Given the description of an element on the screen output the (x, y) to click on. 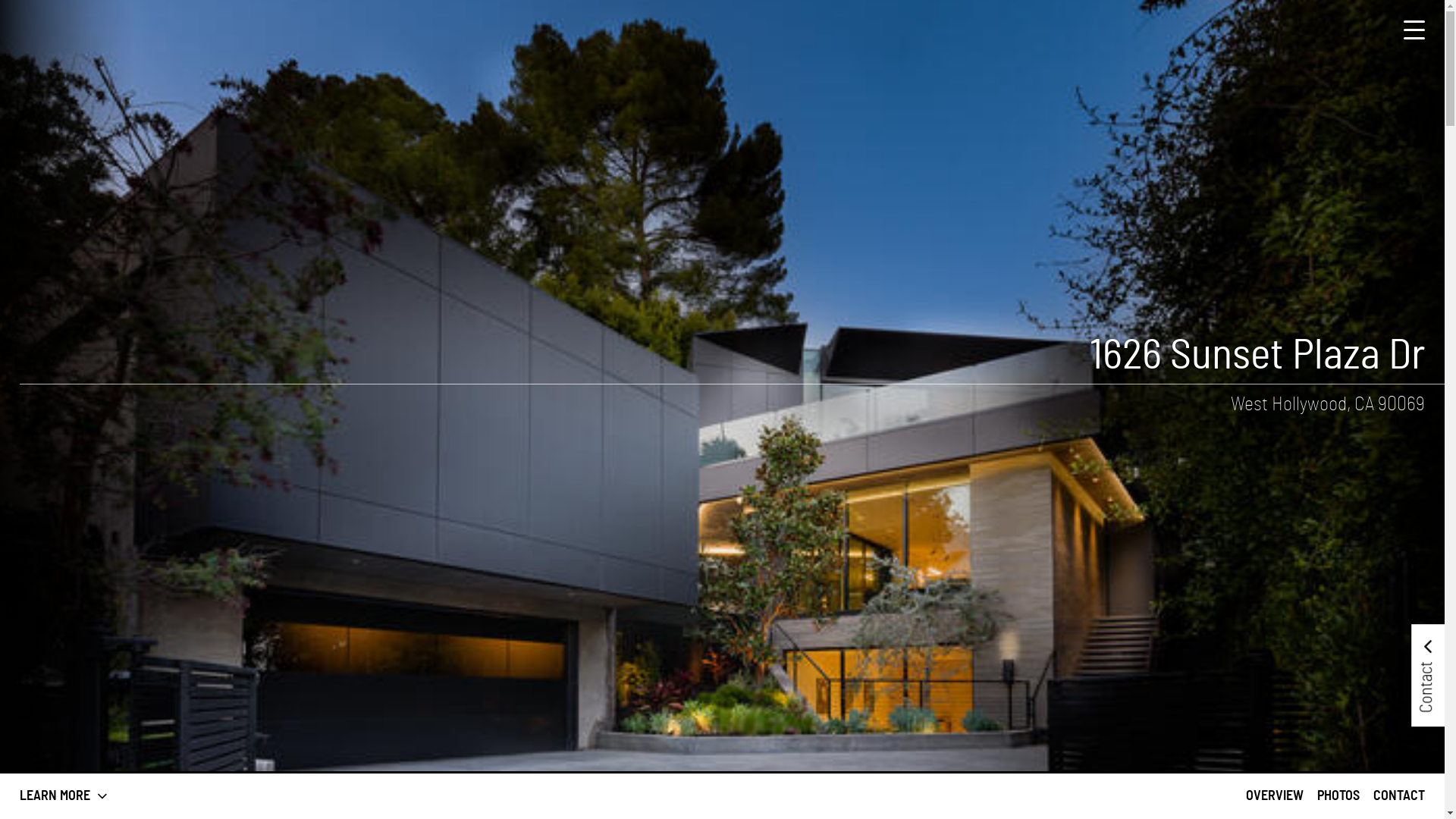
CONTACT Element type: text (1398, 796)
PHOTOS Element type: text (1338, 796)
OVERVIEW Element type: text (1274, 796)
